Given the description of an element on the screen output the (x, y) to click on. 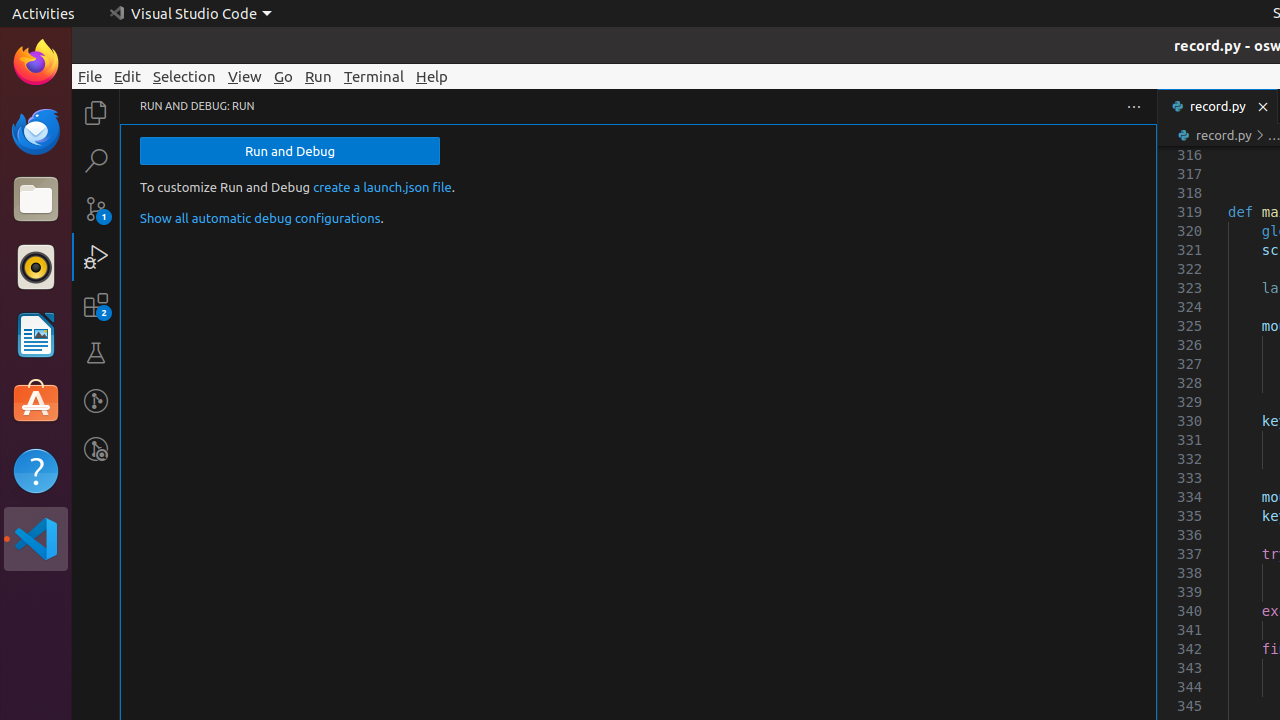
Source Control (Ctrl+Shift+G G) - 1 pending changes Source Control (Ctrl+Shift+G G) - 1 pending changes Element type: page-tab (96, 208)
